Given the description of an element on the screen output the (x, y) to click on. 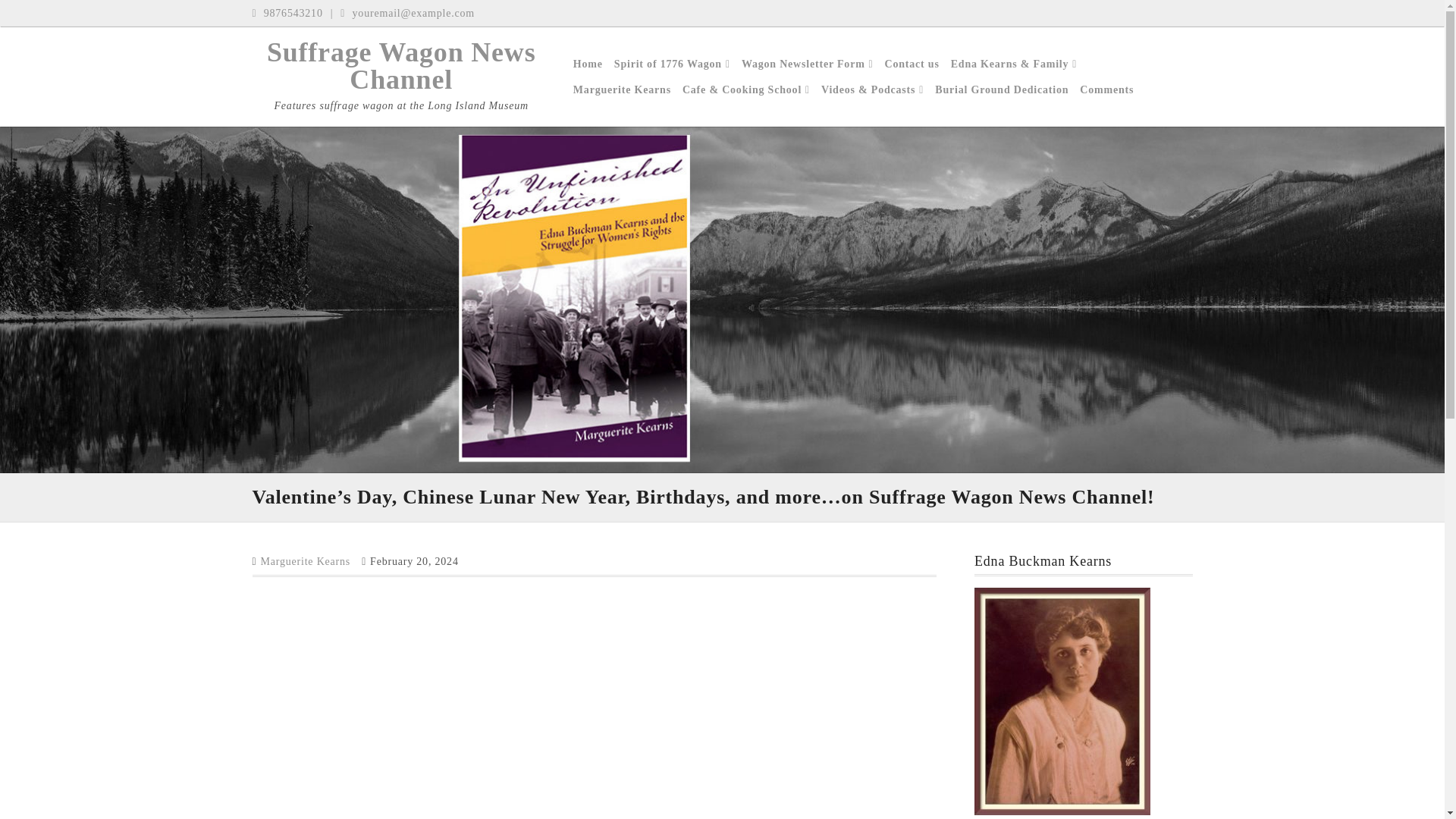
Wagon Newsletter Form (807, 63)
Contact us (912, 63)
Spirit of 1776 Wagon (672, 63)
Comments (1107, 89)
Burial Ground Dedication (1001, 89)
vimeo-player (493, 701)
Suffrage Wagon News Channel (400, 65)
Home (587, 63)
9876543210 (286, 13)
Marguerite Kearns (622, 89)
